Given the description of an element on the screen output the (x, y) to click on. 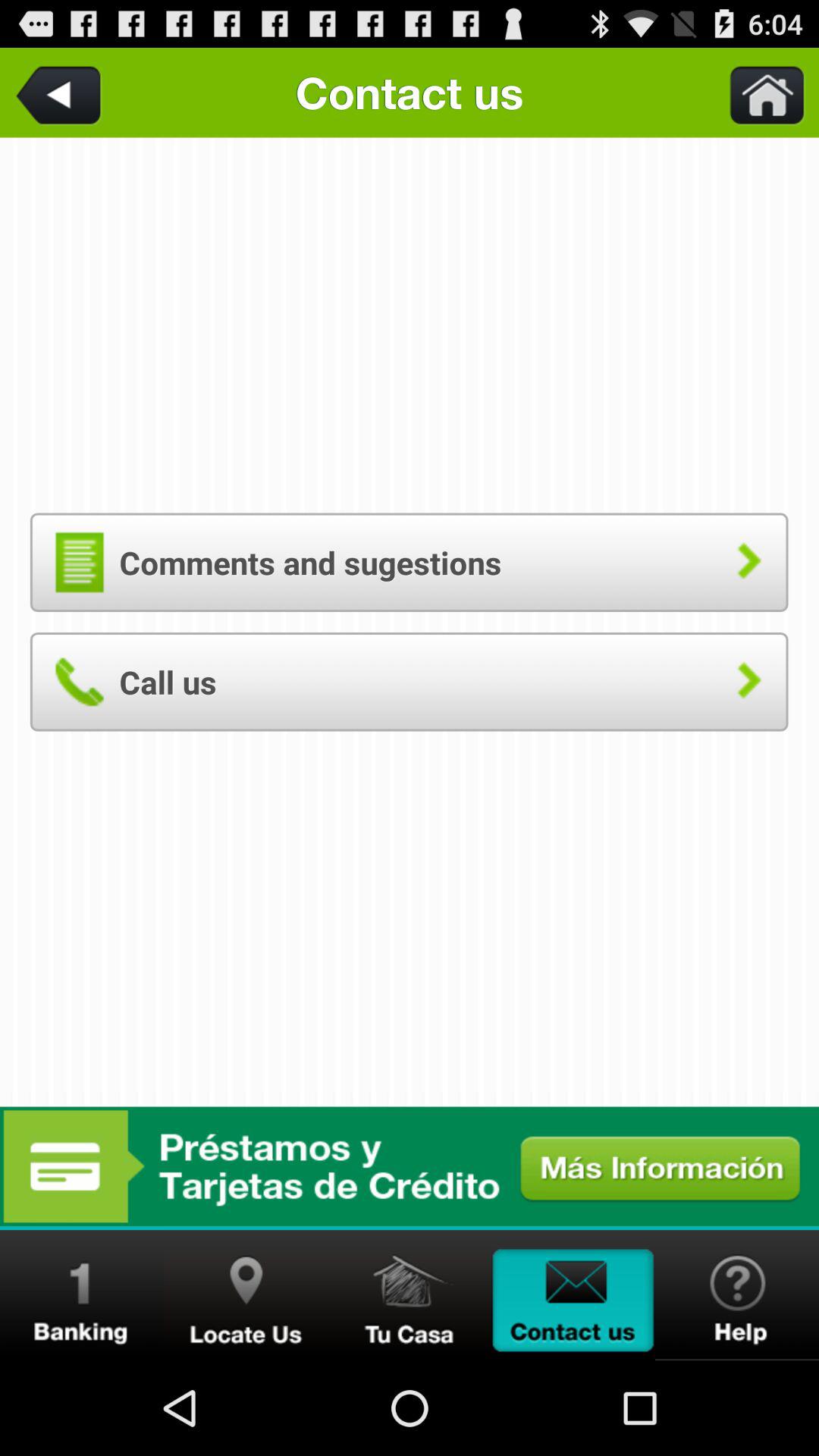
contact us (573, 1295)
